Given the description of an element on the screen output the (x, y) to click on. 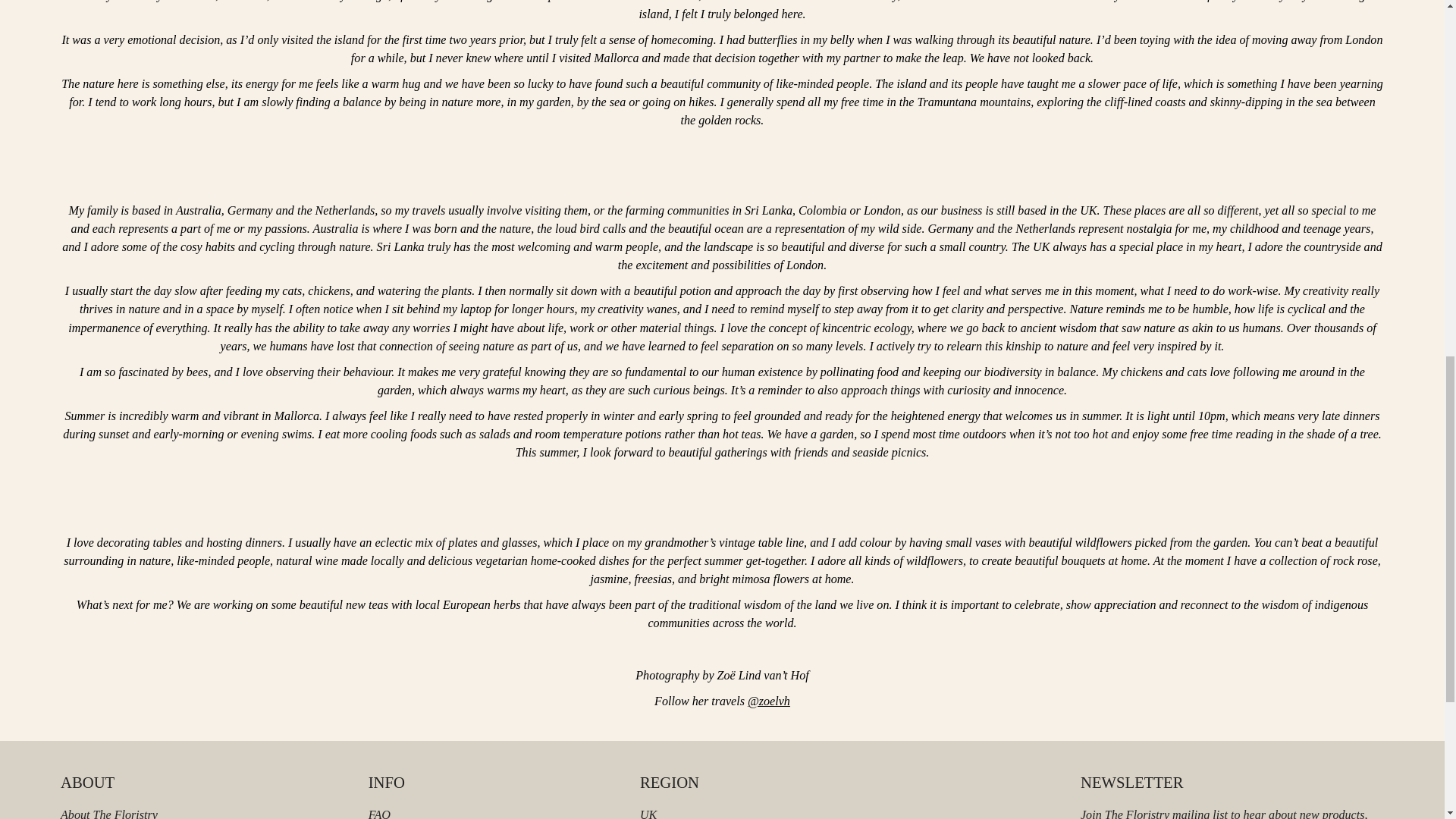
About The Floristry (109, 813)
